Given the description of an element on the screen output the (x, y) to click on. 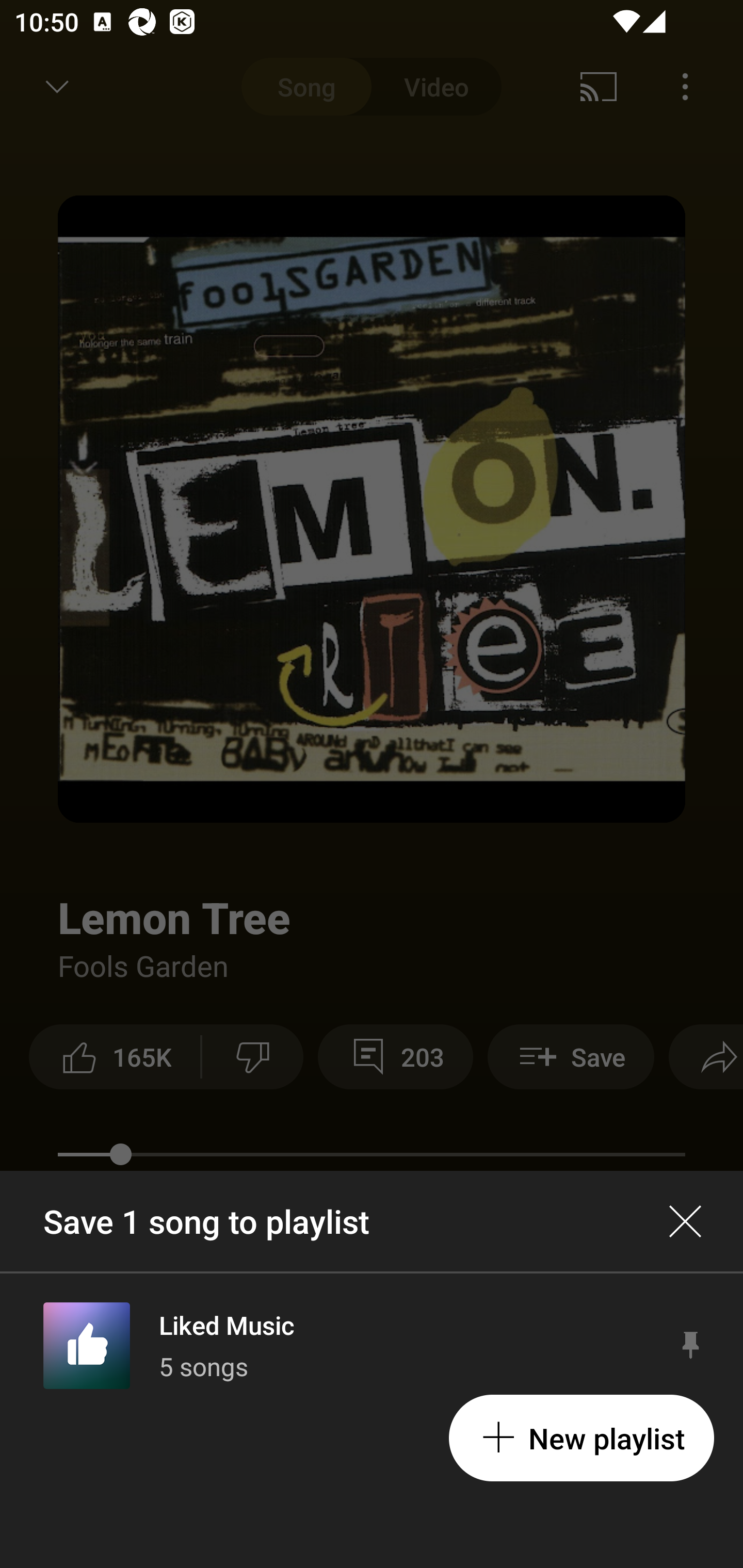
Close (685, 1221)
New playlist (581, 1437)
